Given the description of an element on the screen output the (x, y) to click on. 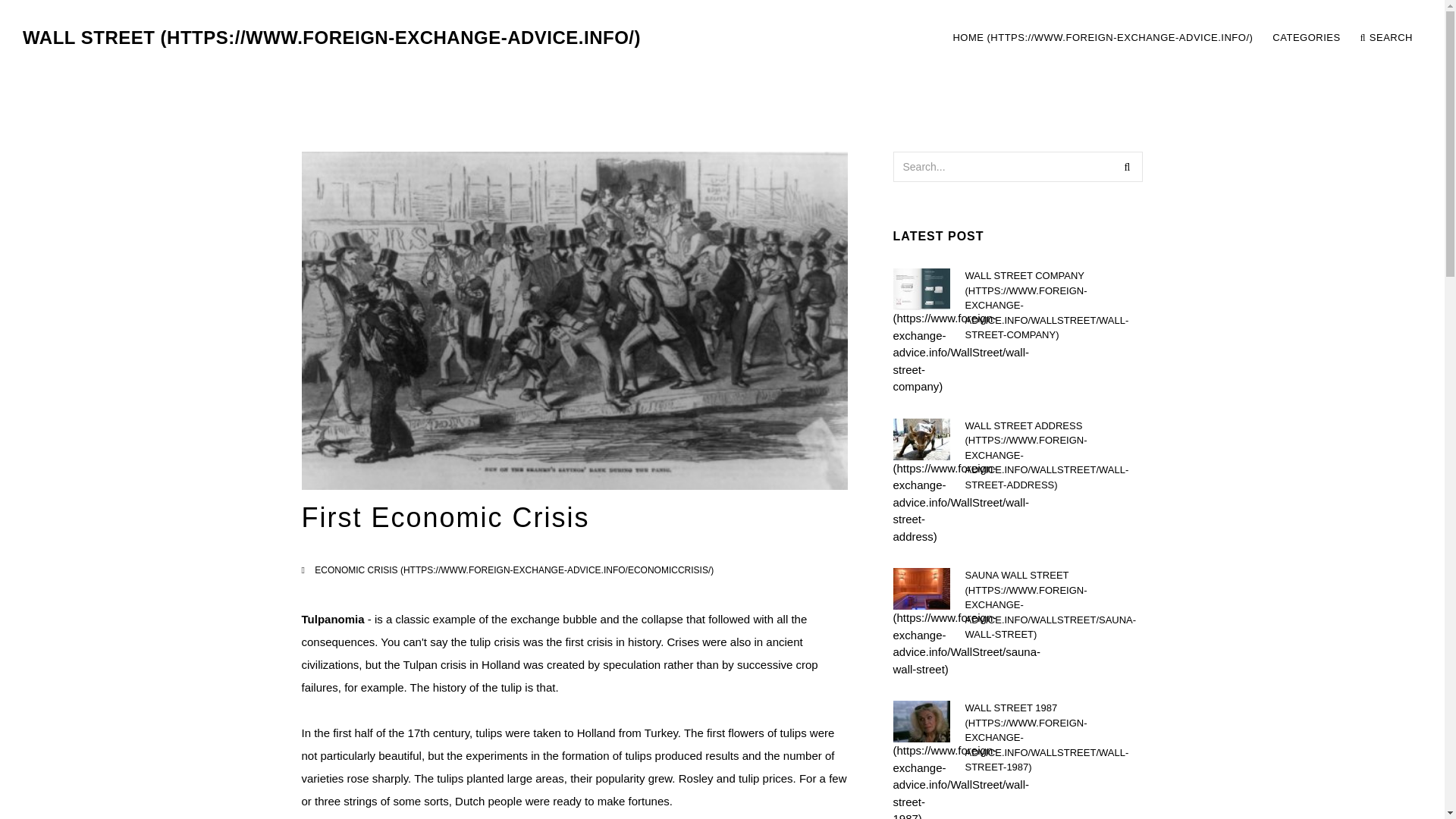
ECONOMIC CRISIS (513, 570)
WALL STREET (331, 38)
WALL STREET COMPANY (1052, 305)
SAUNA WALL STREET (1052, 605)
Wall Street (331, 38)
WALL STREET 1987 (1052, 737)
CATEGORIES (1306, 38)
WALL STREET ADDRESS (1052, 455)
HOME (1102, 38)
Search (1126, 166)
